Given the description of an element on the screen output the (x, y) to click on. 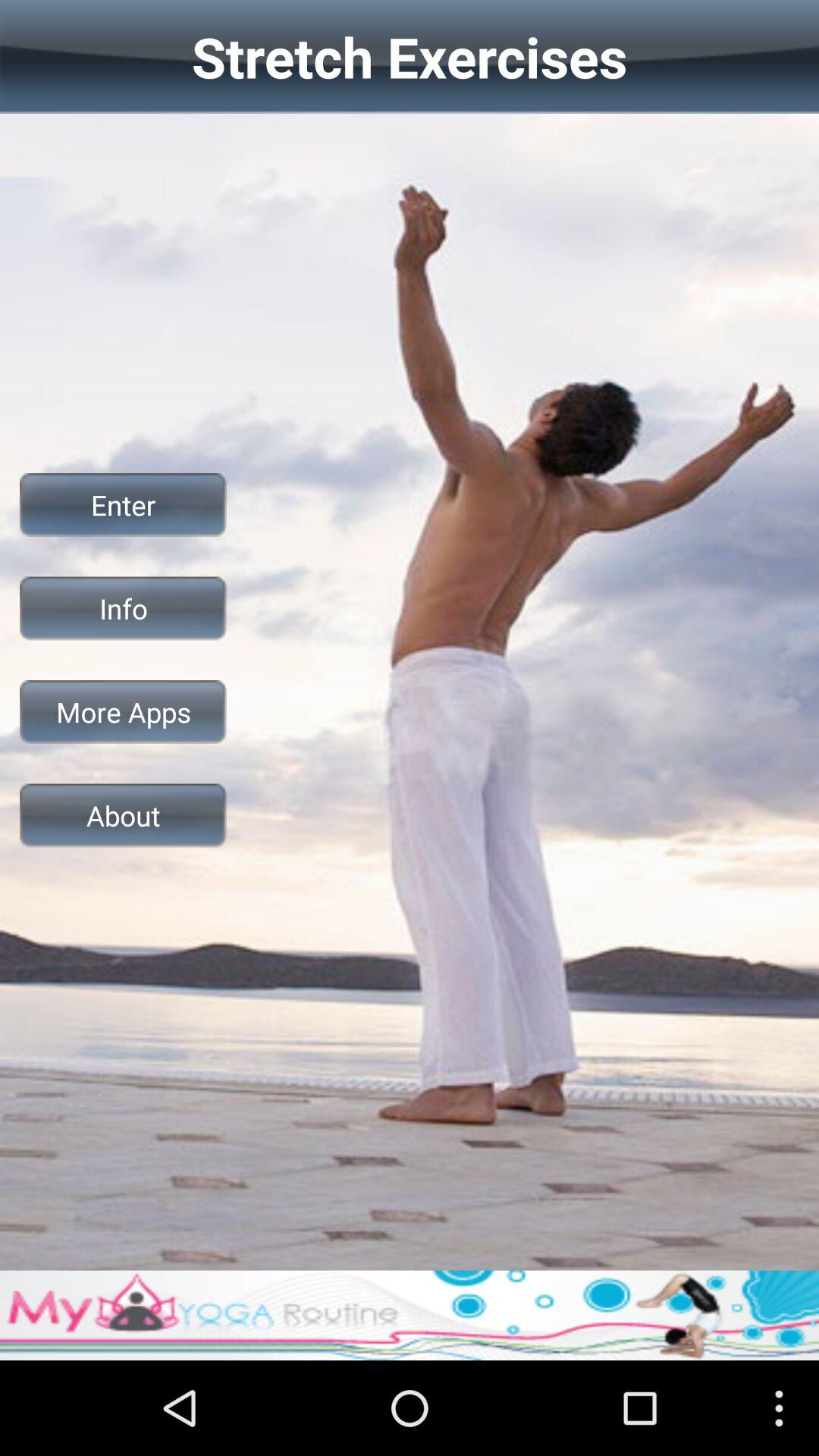
advertisement (409, 1315)
